Given the description of an element on the screen output the (x, y) to click on. 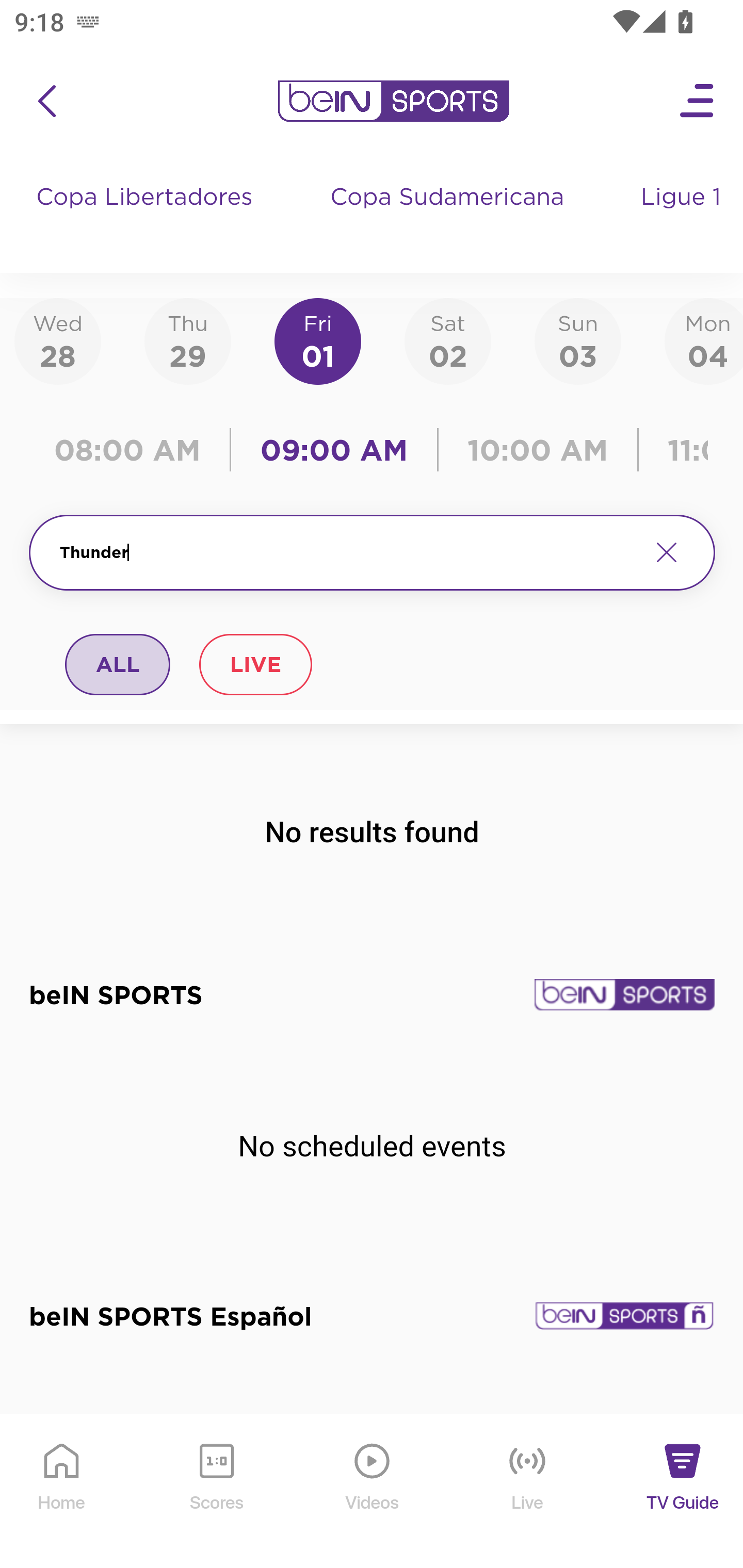
en-us?platform=mobile_android bein logo (392, 101)
icon back (46, 101)
Open Menu Icon (697, 101)
Copa Libertadores (146, 216)
Copa Sudamericana (448, 216)
Ligue 1 (682, 216)
Wed28 (58, 340)
Thu29 (187, 340)
Fri01 (318, 340)
Sat02 (447, 340)
Sun03 (578, 340)
Mon04 (703, 340)
08:00 AM (134, 449)
09:00 AM (334, 449)
10:00 AM (537, 449)
Thunder (346, 552)
ALL (118, 663)
LIVE (255, 663)
Home Home Icon Home (61, 1491)
Scores Scores Icon Scores (216, 1491)
Videos Videos Icon Videos (372, 1491)
TV Guide TV Guide Icon TV Guide (682, 1491)
